Given the description of an element on the screen output the (x, y) to click on. 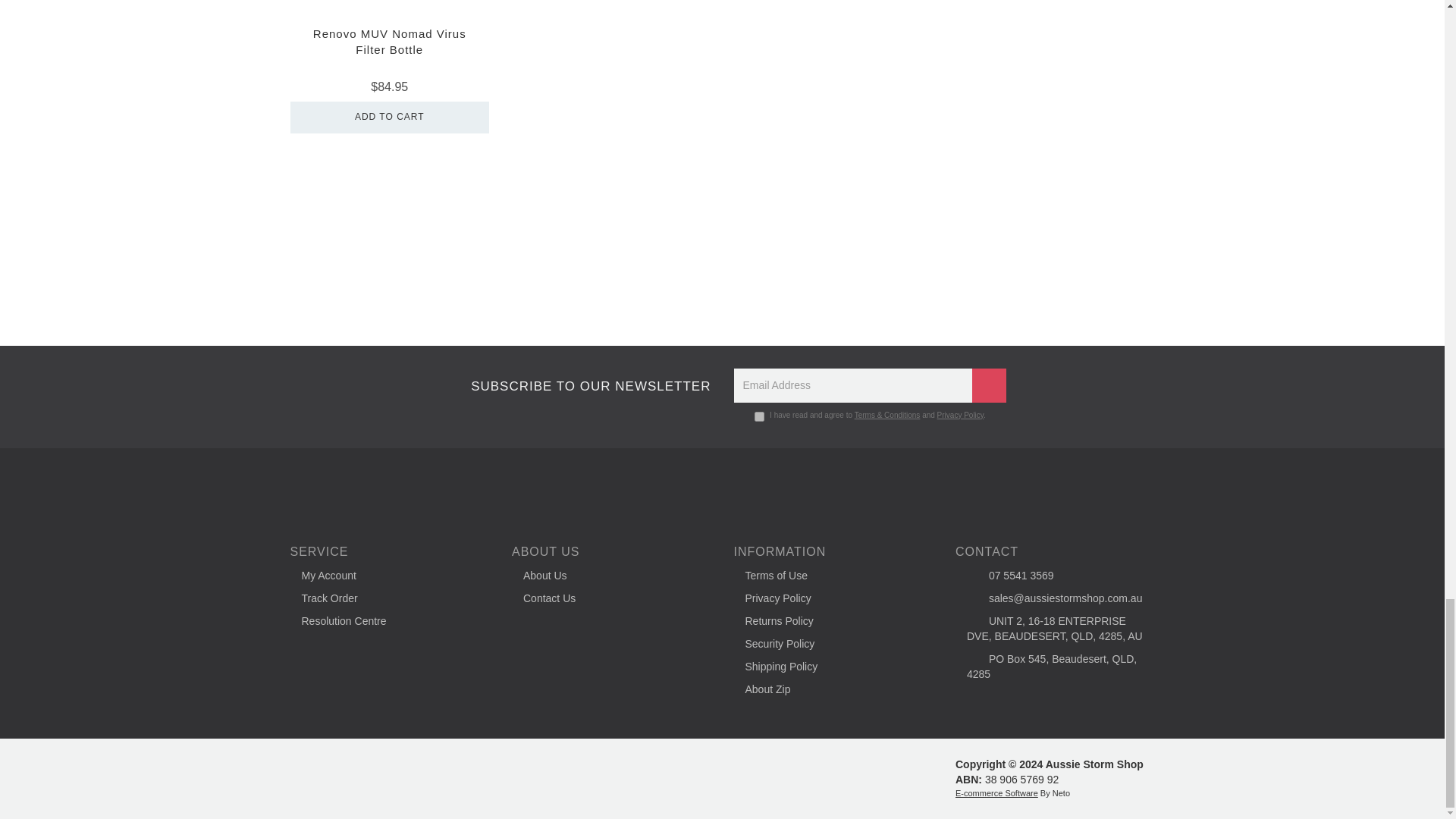
Email us (649, 493)
Aussie Storm Shop on Facebook (686, 493)
Add to Cart (389, 117)
Renovo MUV Nomad Virus Filter Bottle (389, 41)
E-commerce Shopping Cart (996, 792)
Aussie Storm Shop on Instagram (757, 493)
y (759, 416)
Aussie Storm Shop on Twitter (721, 493)
Aussie Storm Shop on Pinterest (793, 493)
